Given the description of an element on the screen output the (x, y) to click on. 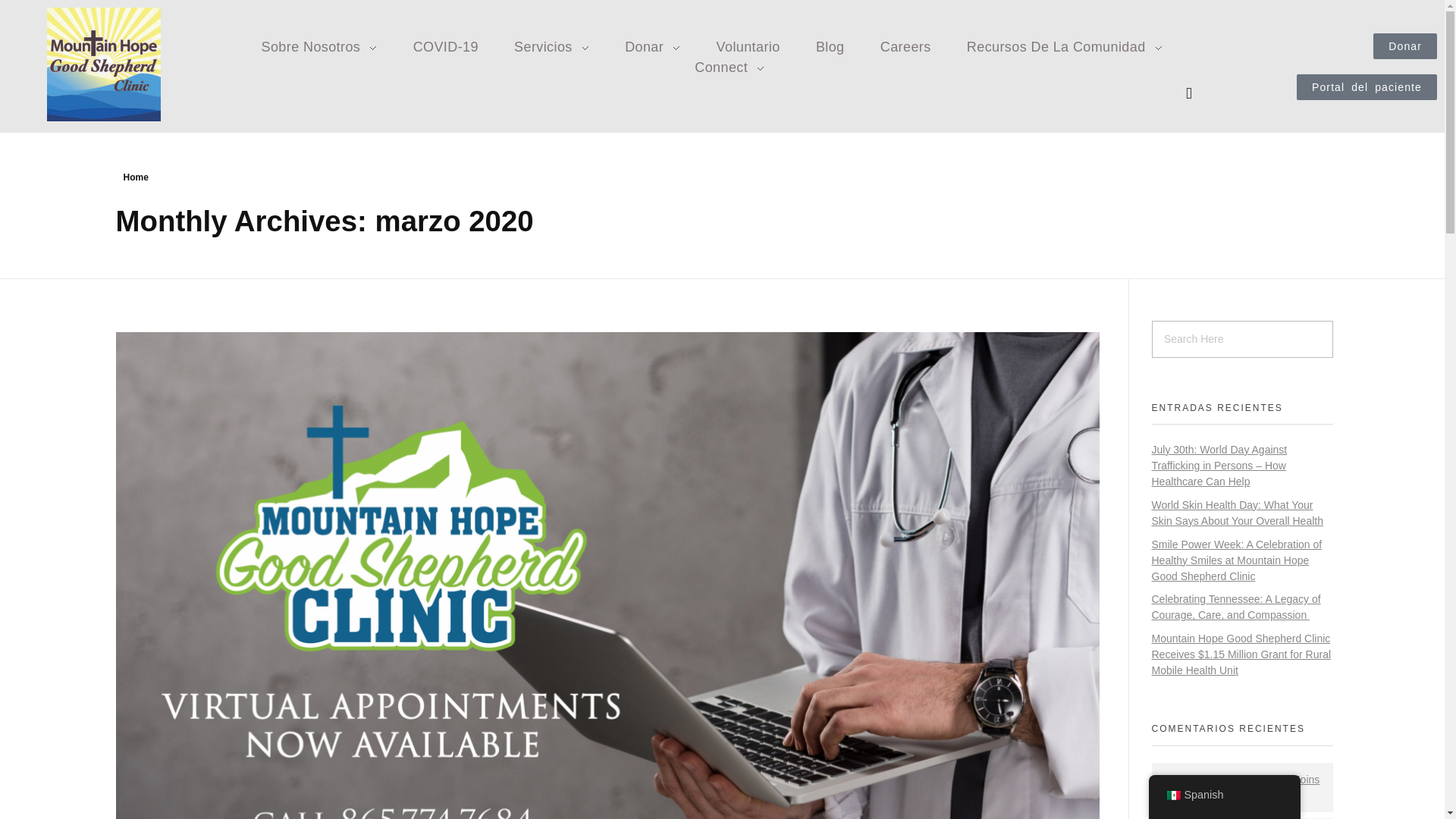
Recursos De La Comunidad (1064, 46)
Blog (829, 46)
Home (135, 176)
Donar (1405, 45)
COVID-19 (445, 46)
Spanish (1172, 795)
Connect (721, 67)
Careers (905, 46)
Voluntario (747, 46)
Buscar (42, 13)
Donar (652, 46)
Home (135, 176)
